Given the description of an element on the screen output the (x, y) to click on. 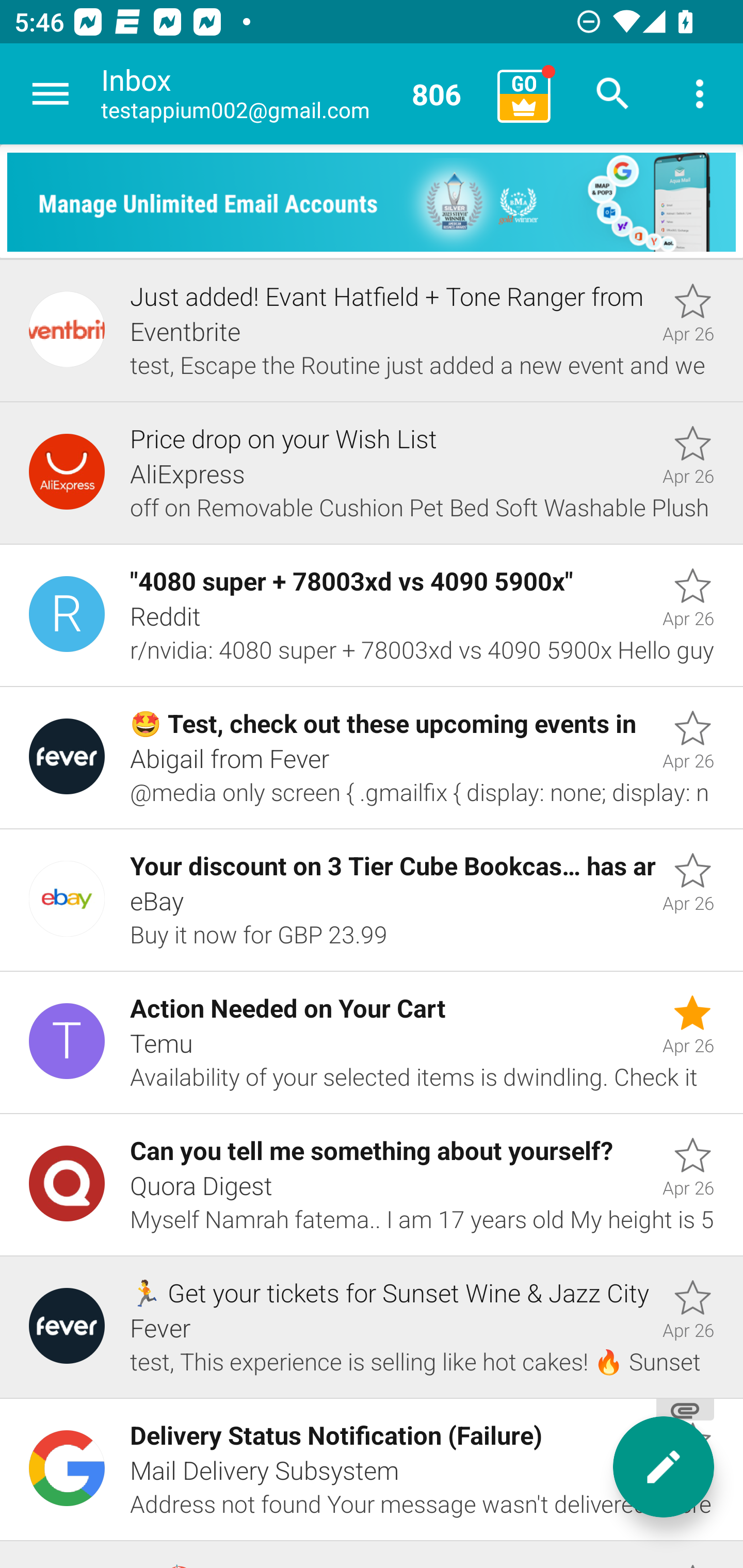
Navigate up (50, 93)
Inbox testappium002@gmail.com 806 (291, 93)
Search (612, 93)
More options (699, 93)
New message (663, 1466)
